Given the description of an element on the screen output the (x, y) to click on. 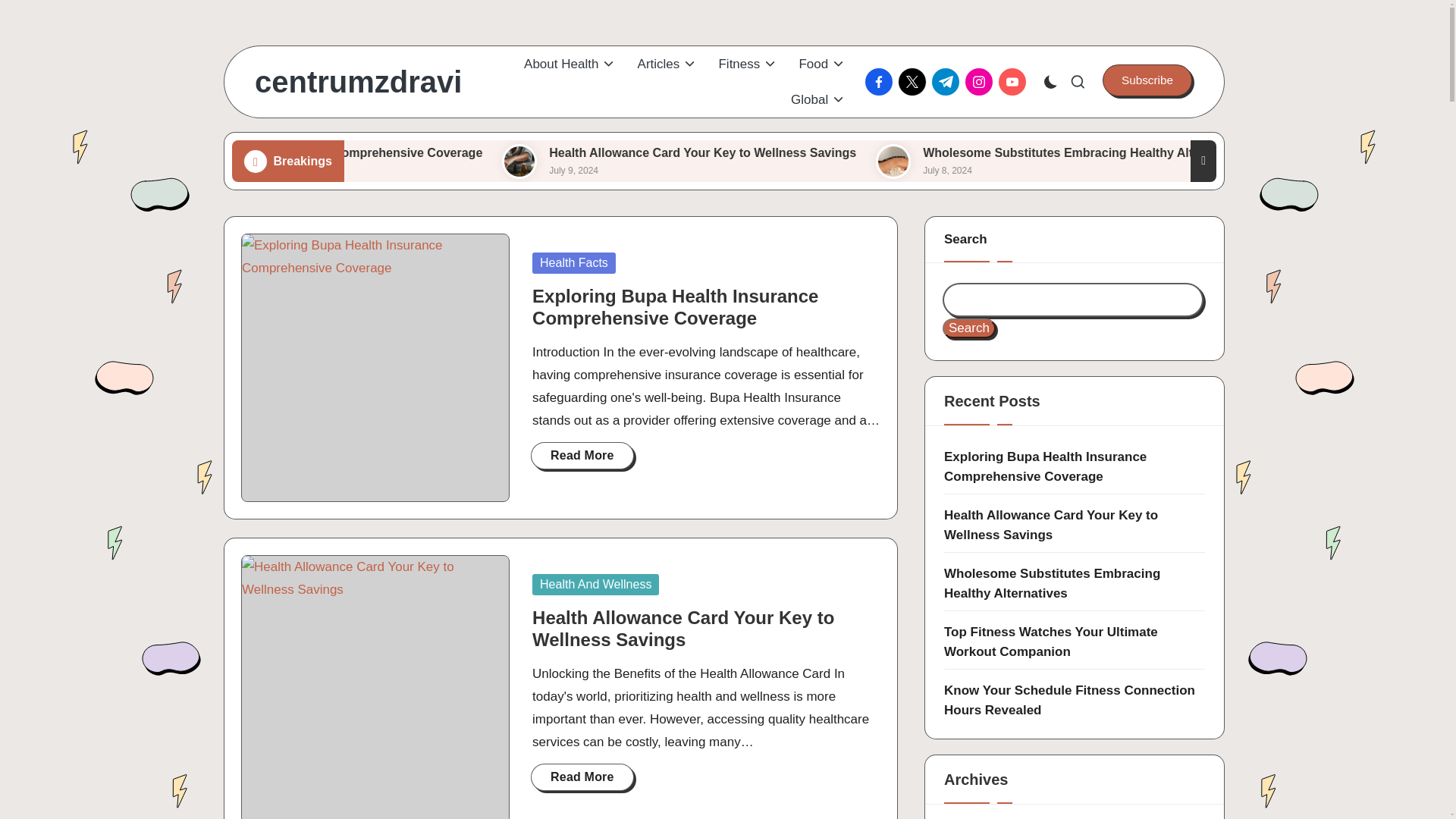
Wholesome Substitutes Embracing Healthy Alternatives (1056, 161)
Health Allowance Card Your Key to Wellness Savings (685, 161)
Articles (667, 63)
About Health (569, 63)
centrumzdravi (357, 81)
